Given the description of an element on the screen output the (x, y) to click on. 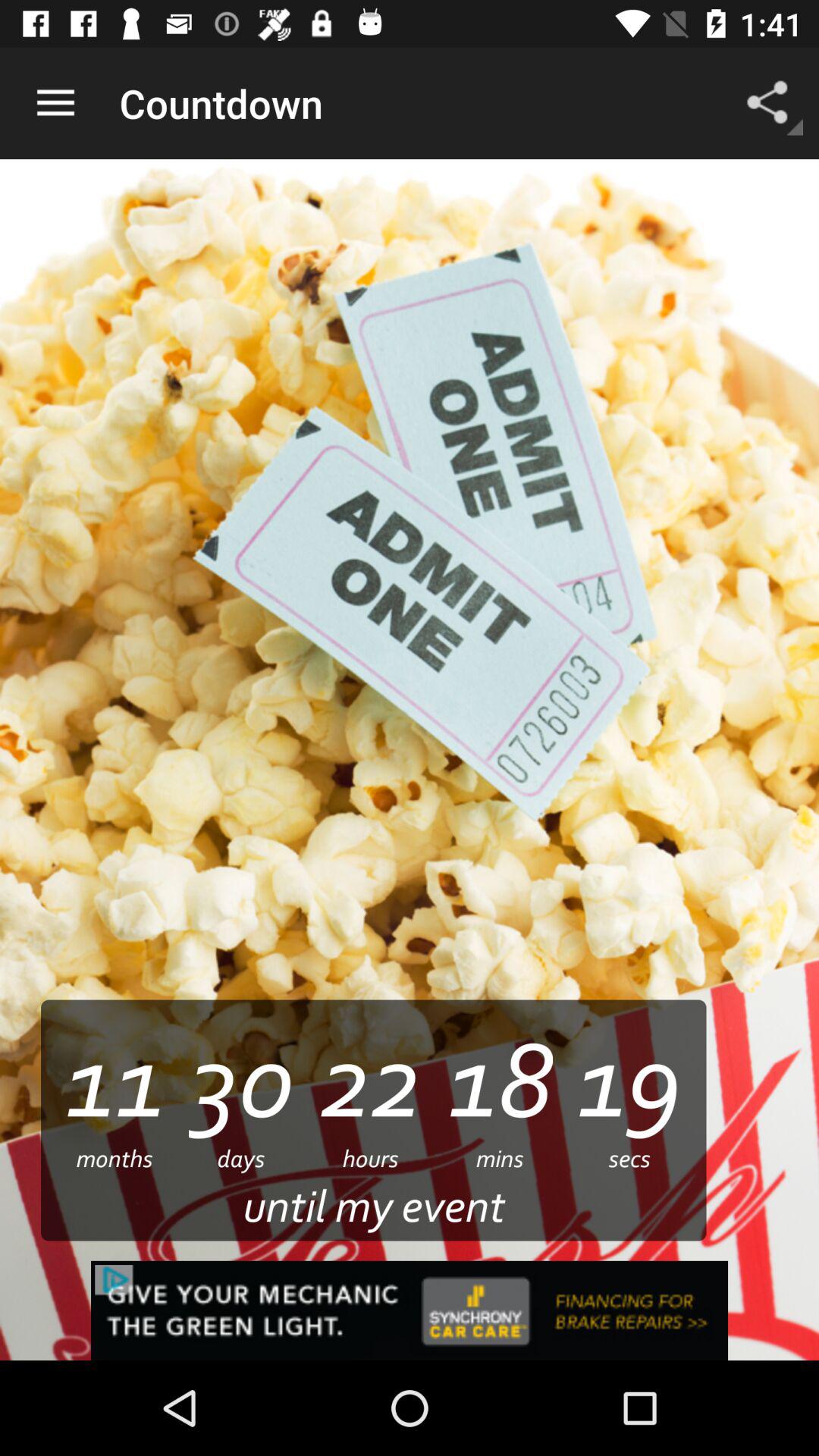
launch app to the right of the countdown item (771, 103)
